Given the description of an element on the screen output the (x, y) to click on. 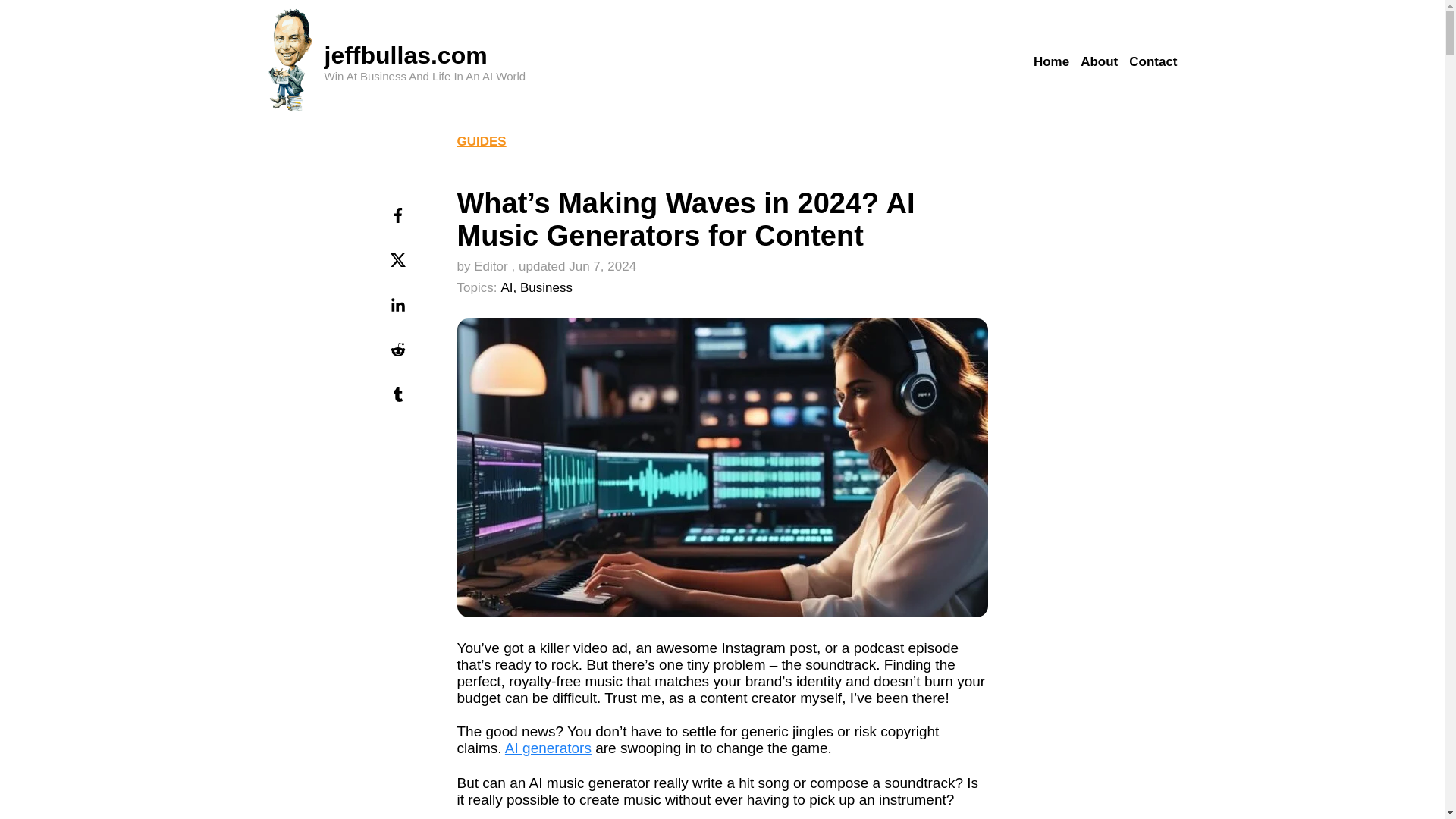
jeffbullas.com (405, 53)
Home (1050, 61)
Contact (1152, 61)
Business (545, 287)
GUIDES (481, 141)
AI (506, 287)
AI generators (548, 747)
About (1099, 61)
